Given the description of an element on the screen output the (x, y) to click on. 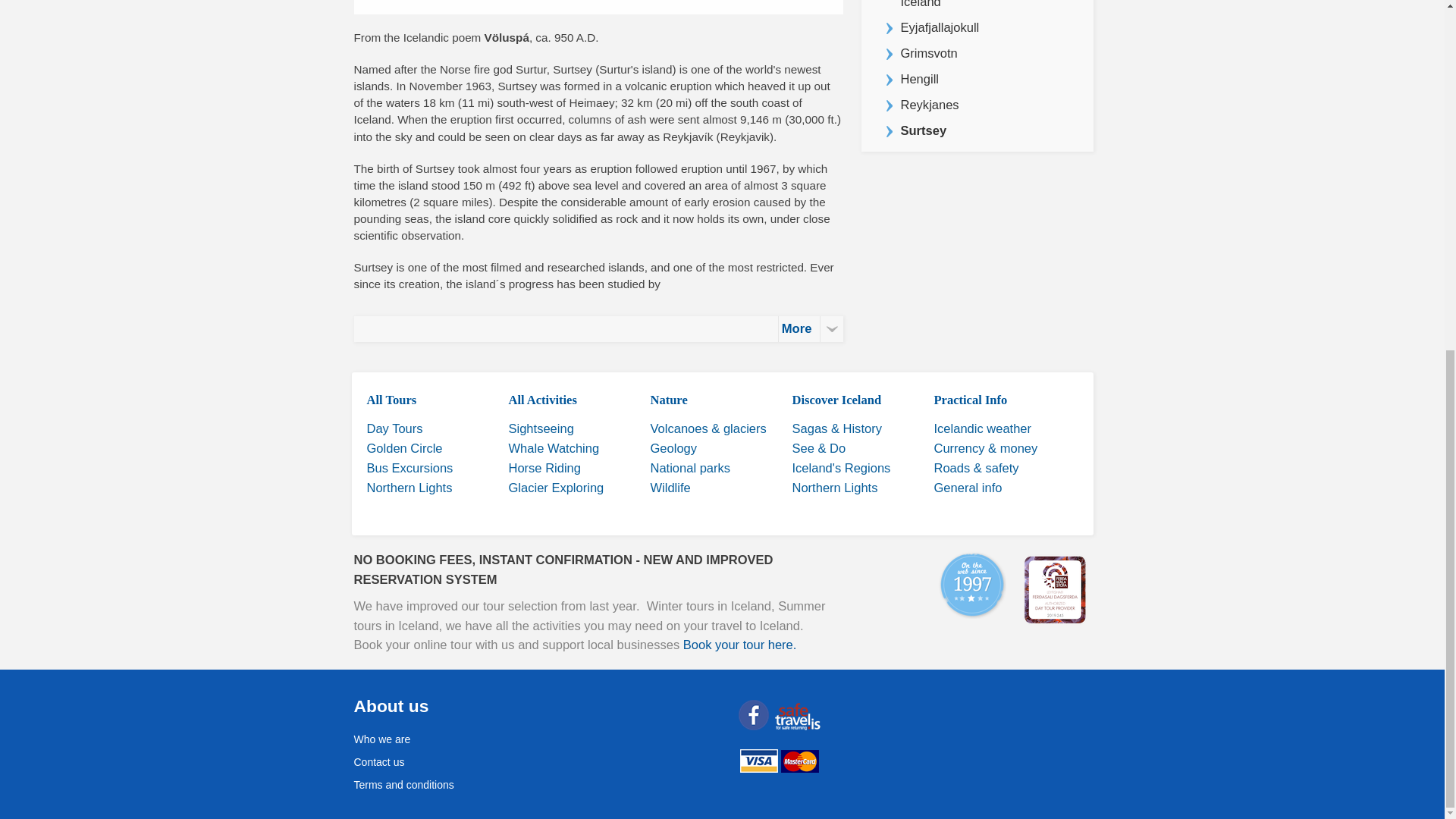
Geology (673, 448)
All Tours (391, 400)
Iceland's Regions (840, 468)
Reykjanes (977, 104)
Grimsvotn (977, 53)
Wildlife (670, 487)
Discover Iceland (836, 400)
Sightseeing (540, 428)
All Activities (542, 400)
Northern Lights (409, 487)
Katla Volcanic Eruption In Iceland (977, 7)
Iceland's Golden Circle tours with Iceland On The Web (404, 448)
Eyjafjallajokull (977, 27)
Bus Excursions (409, 468)
Glacier Exploring (556, 487)
